Given the description of an element on the screen output the (x, y) to click on. 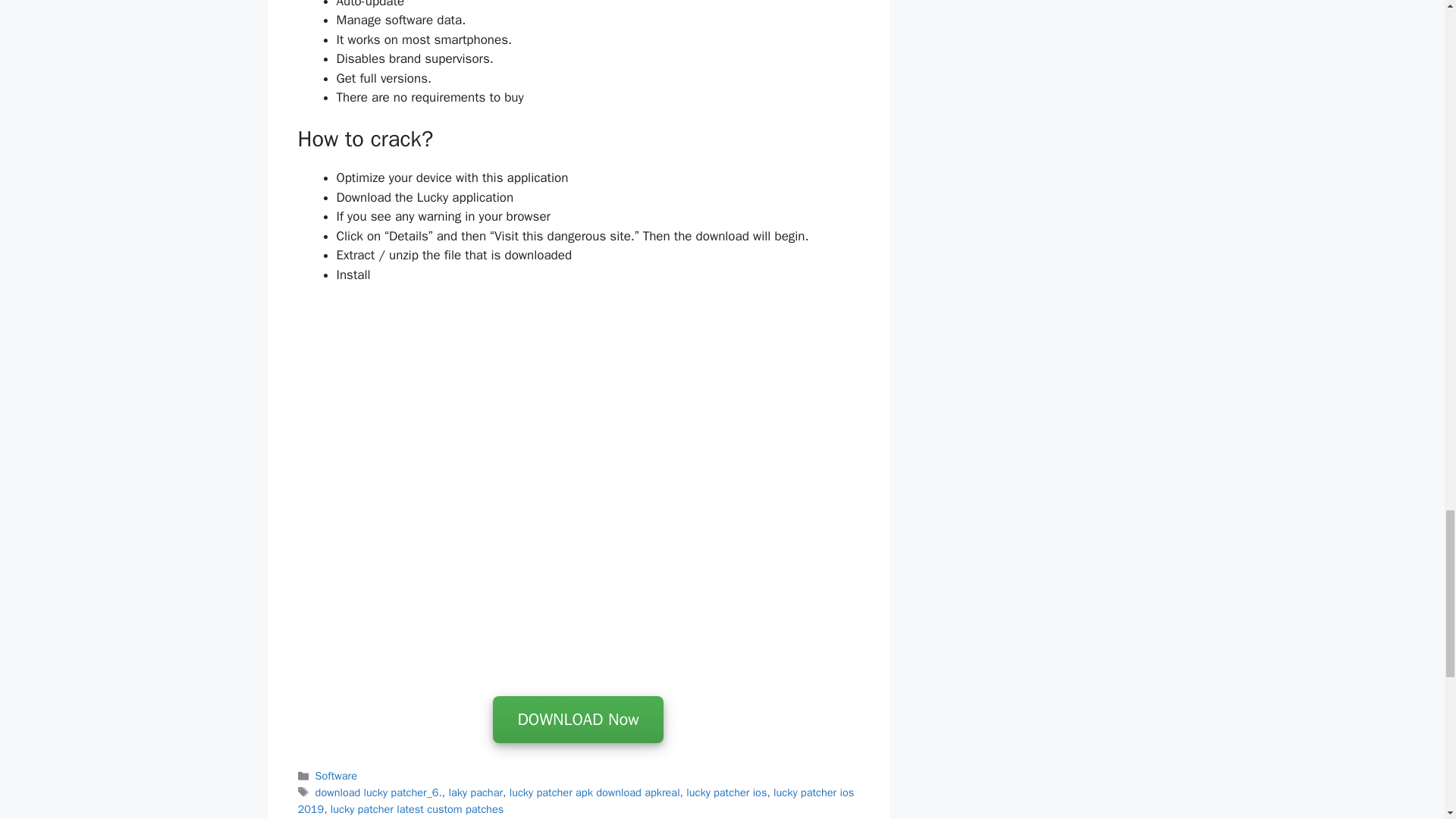
lucky patcher ios (726, 792)
laky pachar (475, 792)
lucky patcher apk download apkreal (594, 792)
DOWNLOAD Now (577, 719)
lucky patcher latest custom patches (416, 808)
lucky patcher ios 2019 (575, 800)
DOWNLOAD Now (577, 720)
Software (335, 775)
